Given the description of an element on the screen output the (x, y) to click on. 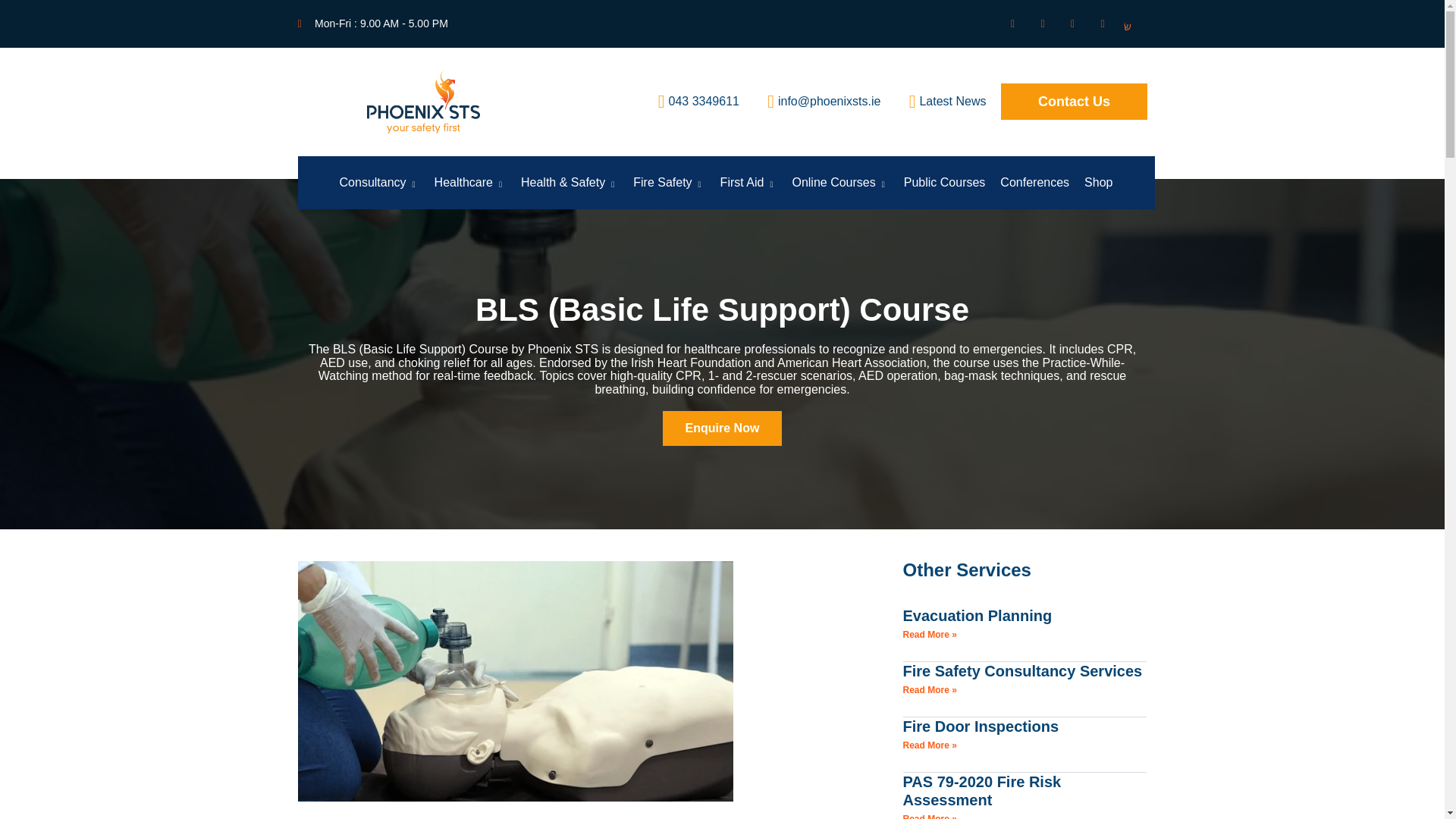
Contact Us (1074, 101)
Latest News (938, 101)
043 3349611 (690, 101)
